Given the description of an element on the screen output the (x, y) to click on. 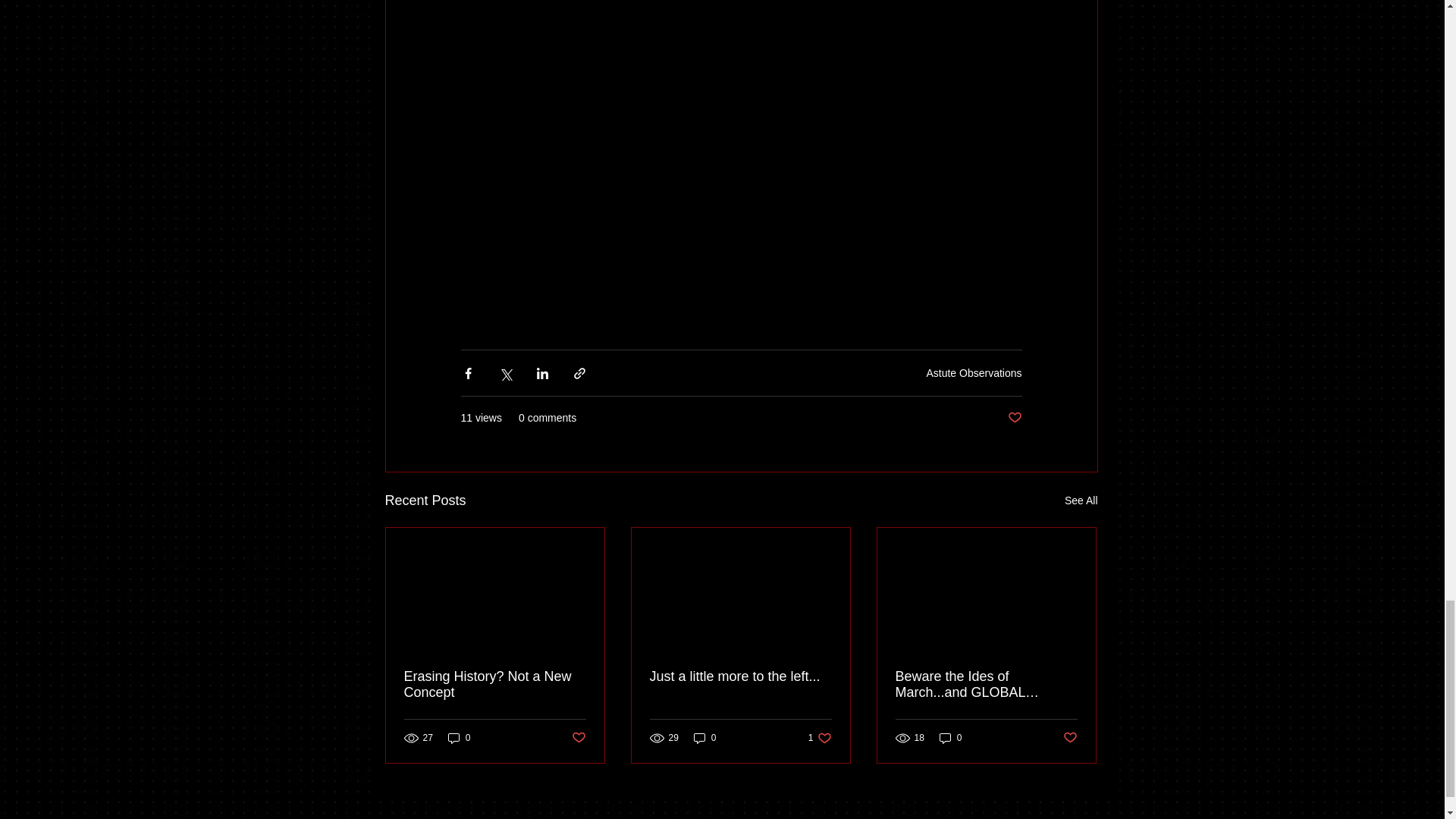
Erasing History? Not a New Concept (494, 685)
0 (458, 738)
See All (1080, 500)
Post not marked as liked (579, 738)
0 (705, 738)
Astute Observations (819, 738)
Just a little more to the left... (974, 372)
Post not marked as liked (740, 676)
